Given the description of an element on the screen output the (x, y) to click on. 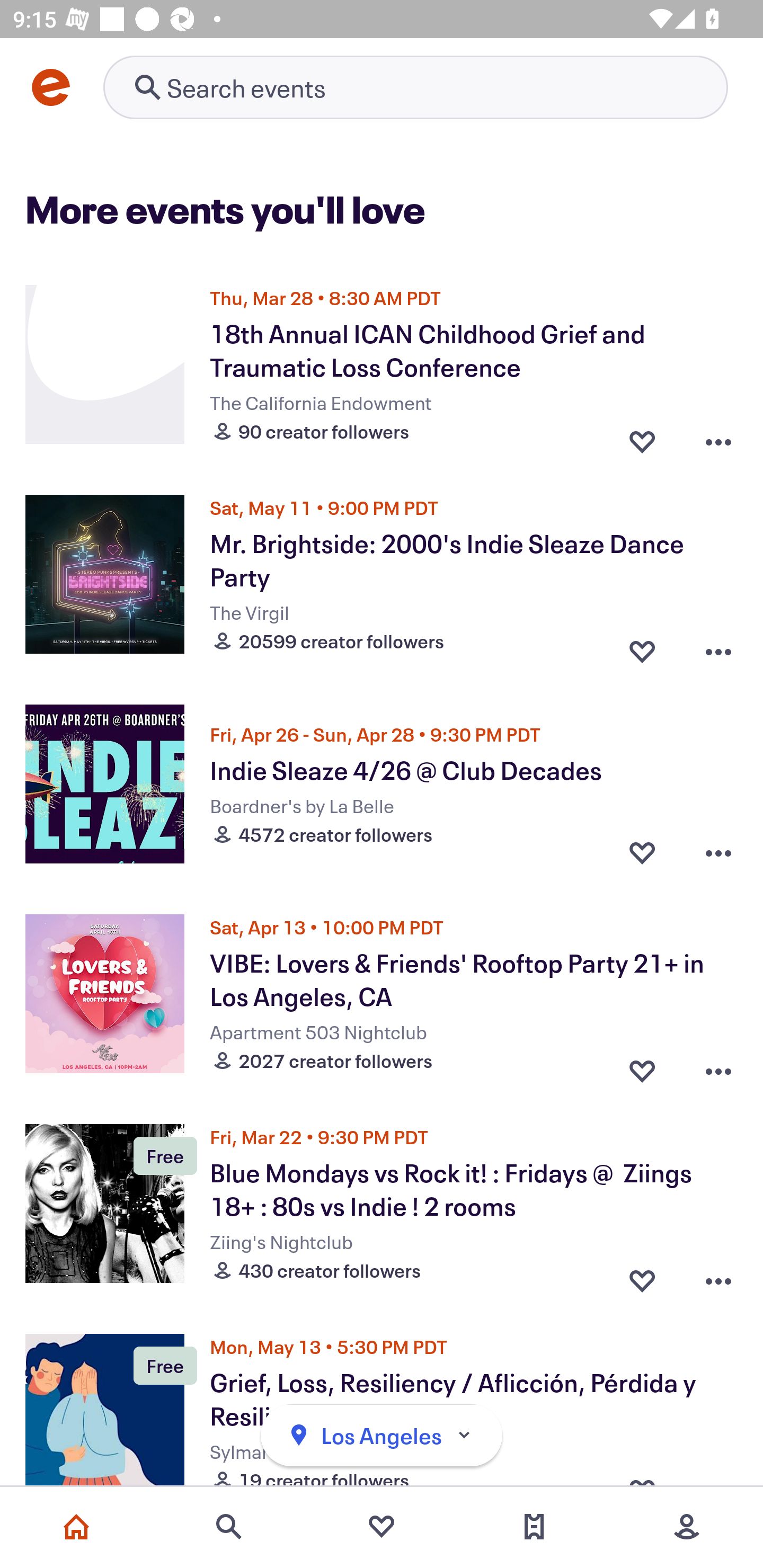
Retry's image Search events (415, 86)
Favorite button (642, 436)
Overflow menu button (718, 436)
Favorite button (642, 646)
Overflow menu button (718, 646)
Favorite button (642, 852)
Overflow menu button (718, 852)
Favorite button (642, 1066)
Overflow menu button (718, 1066)
Favorite button (642, 1275)
Overflow menu button (718, 1275)
Los Angeles (381, 1435)
Home (76, 1526)
Search events (228, 1526)
Favorites (381, 1526)
Tickets (533, 1526)
More (686, 1526)
